Given the description of an element on the screen output the (x, y) to click on. 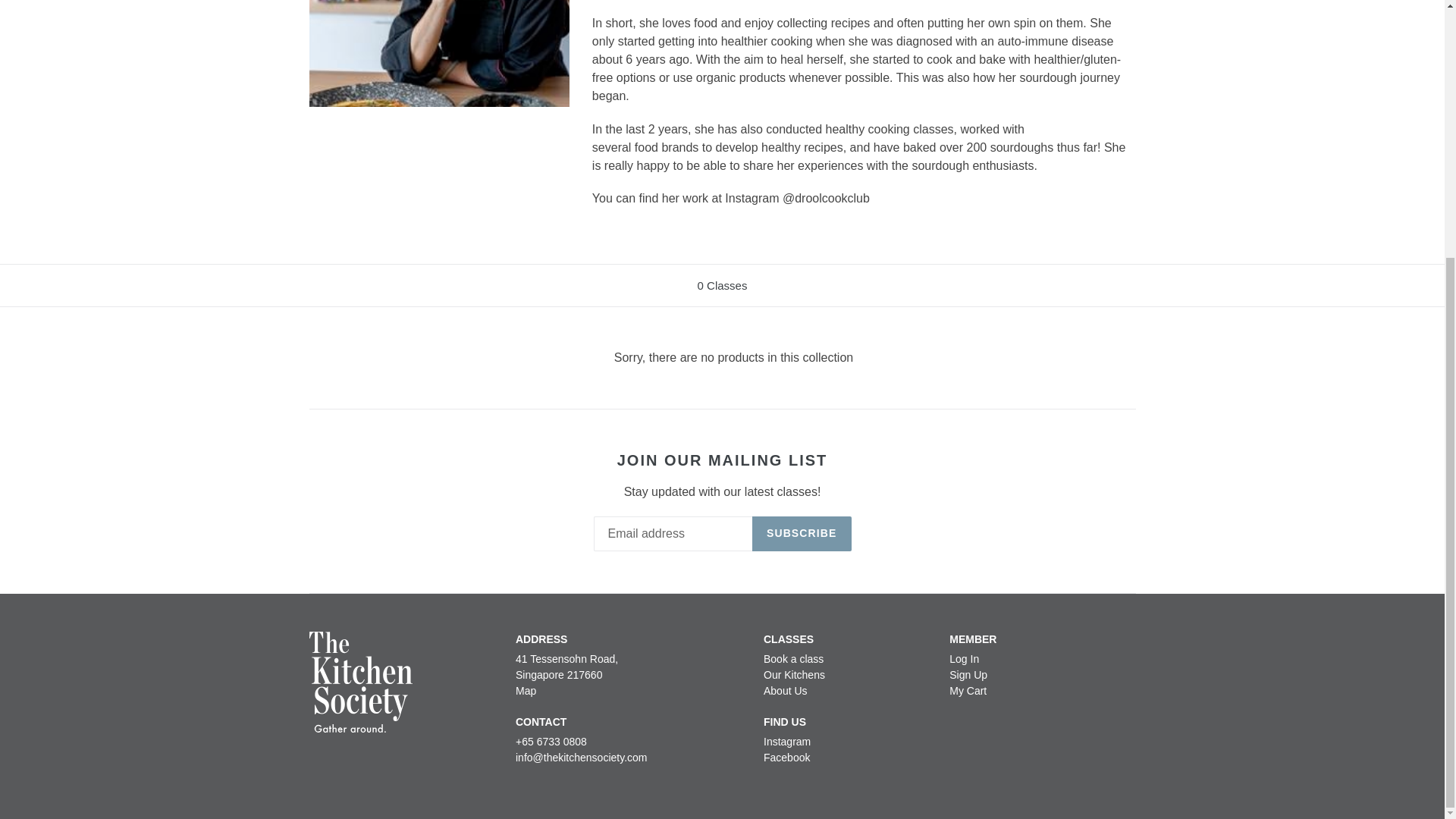
About Us (785, 690)
Map (525, 690)
SUBSCRIBE (801, 533)
Log In (963, 658)
Book a class (793, 658)
Facebook (785, 757)
Sign Up (968, 674)
Page 1 (863, 113)
Instagram (786, 741)
My Cart (968, 690)
